Given the description of an element on the screen output the (x, y) to click on. 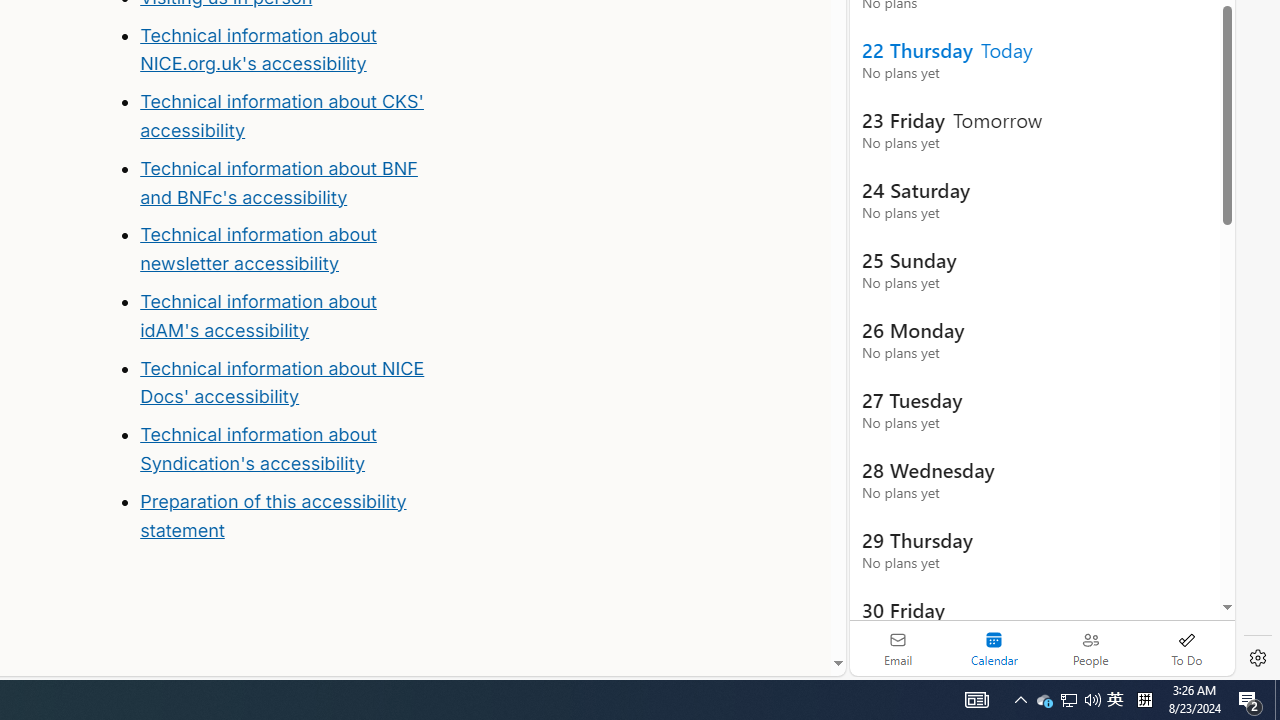
Email (898, 648)
Preparation of this accessibility statement (287, 515)
To Do (1186, 648)
Technical information about CKS' accessibility (281, 115)
Technical information about newsletter accessibility (258, 249)
Technical information about idAM's accessibility (258, 315)
People (1090, 648)
